Given the description of an element on the screen output the (x, y) to click on. 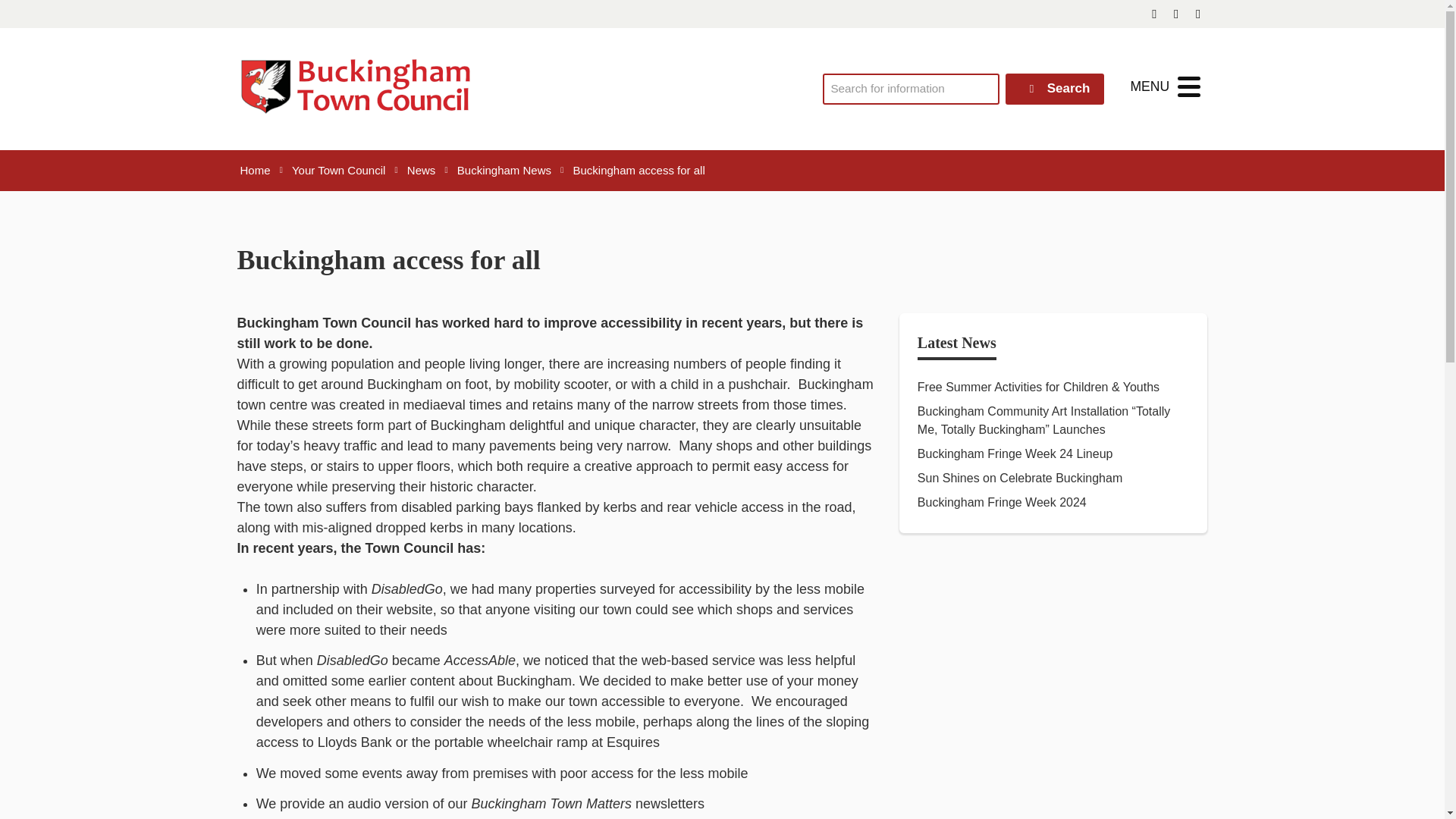
Follow us on Instagram (1198, 13)
Go to the Buckingham News Category archives. (504, 169)
Go to Home. (254, 169)
Go to News. (421, 169)
Follow us on Facebook (1153, 13)
Go to Your Town Council. (338, 169)
Search (1055, 88)
Follow us on Twitter (1176, 13)
MENU (1164, 86)
